Given the description of an element on the screen output the (x, y) to click on. 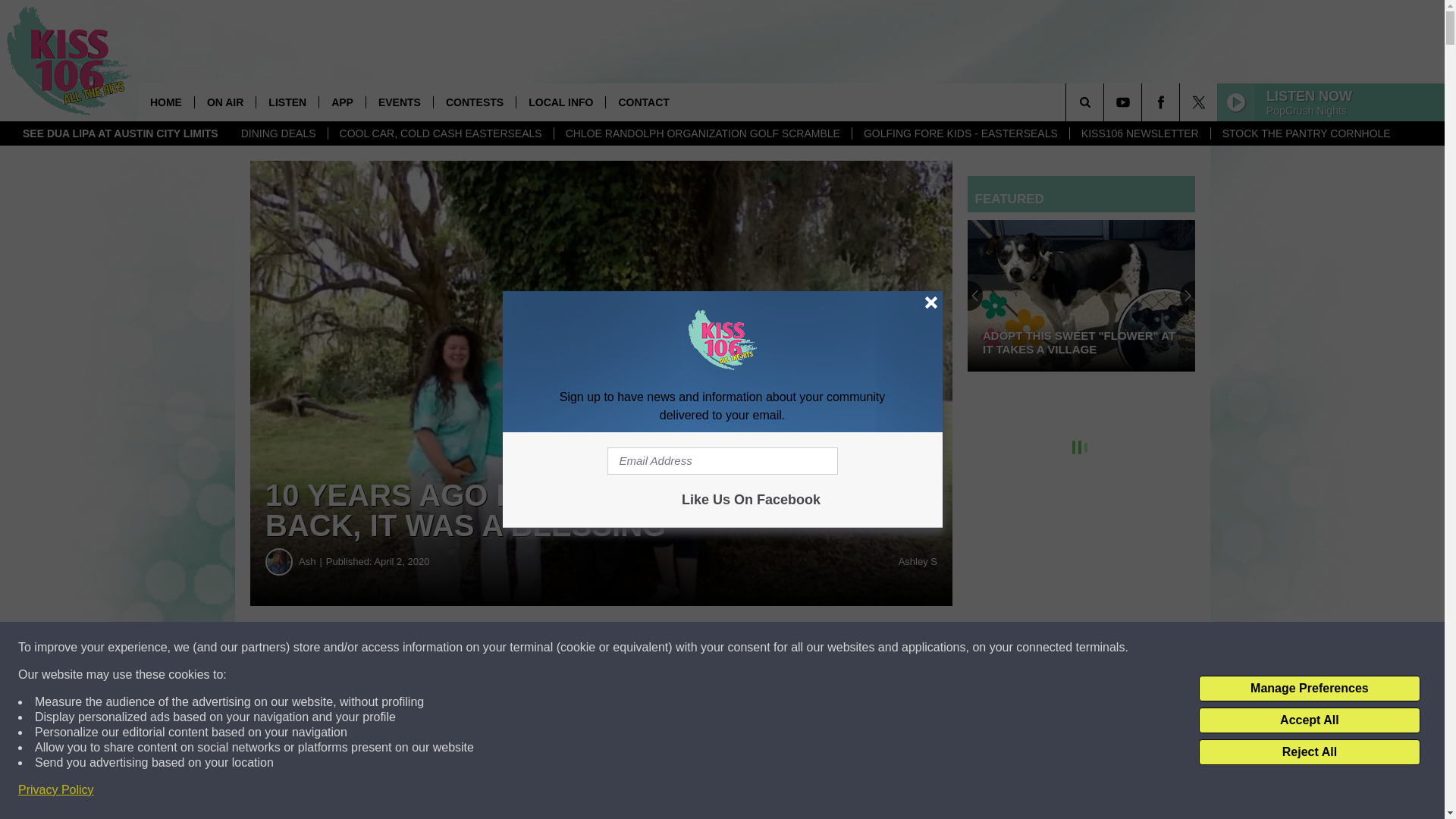
HOME (165, 102)
CHLOE RANDOLPH ORGANIZATION GOLF SCRAMBLE (702, 133)
DINING DEALS (278, 133)
ON AIR (224, 102)
SEARCH (1106, 102)
Manage Preferences (1309, 688)
Share on Twitter (741, 647)
Email Address (722, 461)
SEE DUA LIPA AT AUSTIN CITY LIMITS (120, 133)
Reject All (1309, 751)
STOCK THE PANTRY CORNHOLE (1305, 133)
LISTEN (287, 102)
COOL CAR, COLD CASH EASTERSEALS (440, 133)
Share on Facebook (460, 647)
SEARCH (1106, 102)
